Given the description of an element on the screen output the (x, y) to click on. 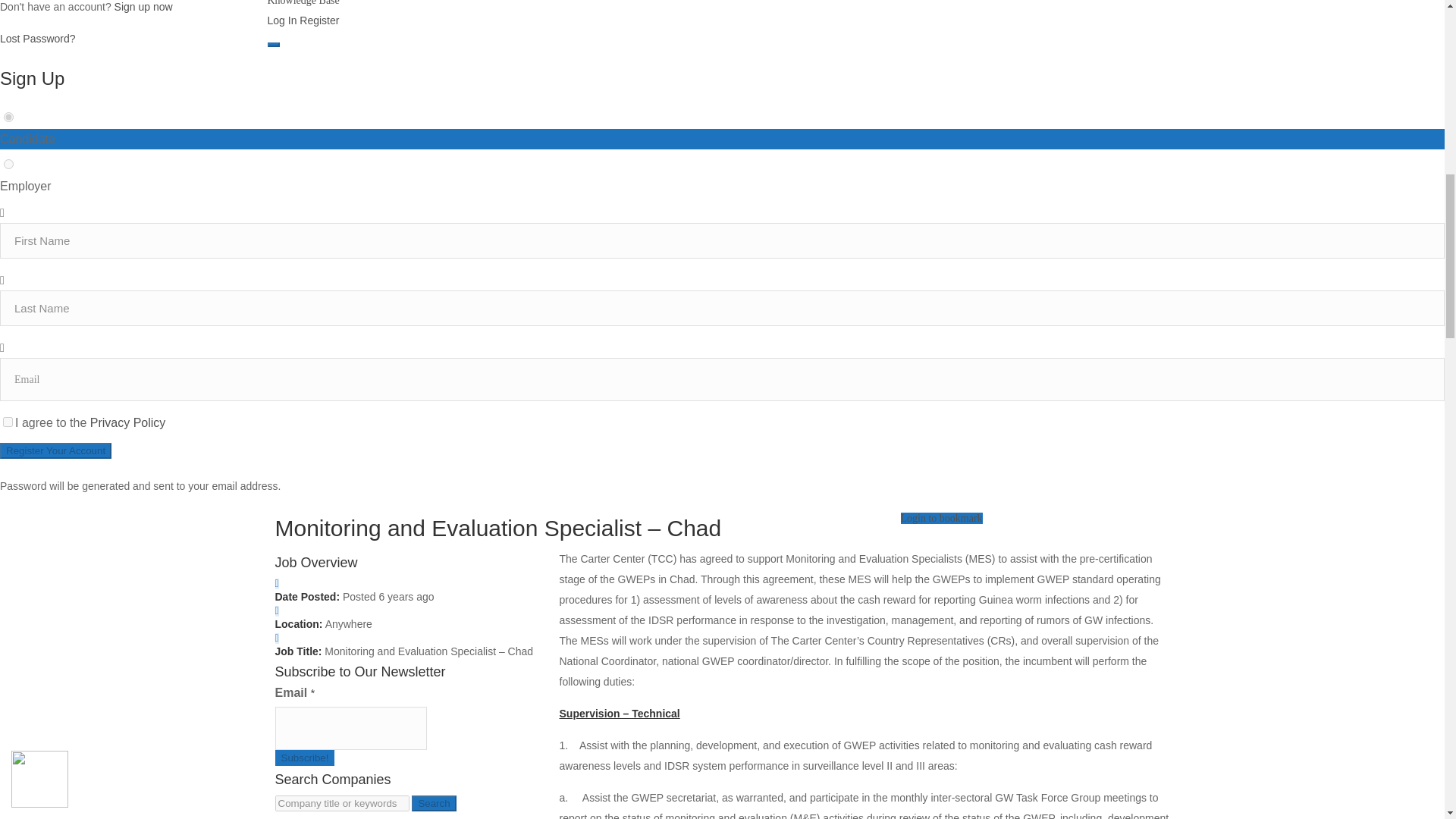
on (7, 421)
employer (8, 163)
Register Your Account (56, 450)
Lost Password? (37, 38)
Email (350, 728)
Subscribe! (304, 757)
candidate (8, 117)
